Given the description of an element on the screen output the (x, y) to click on. 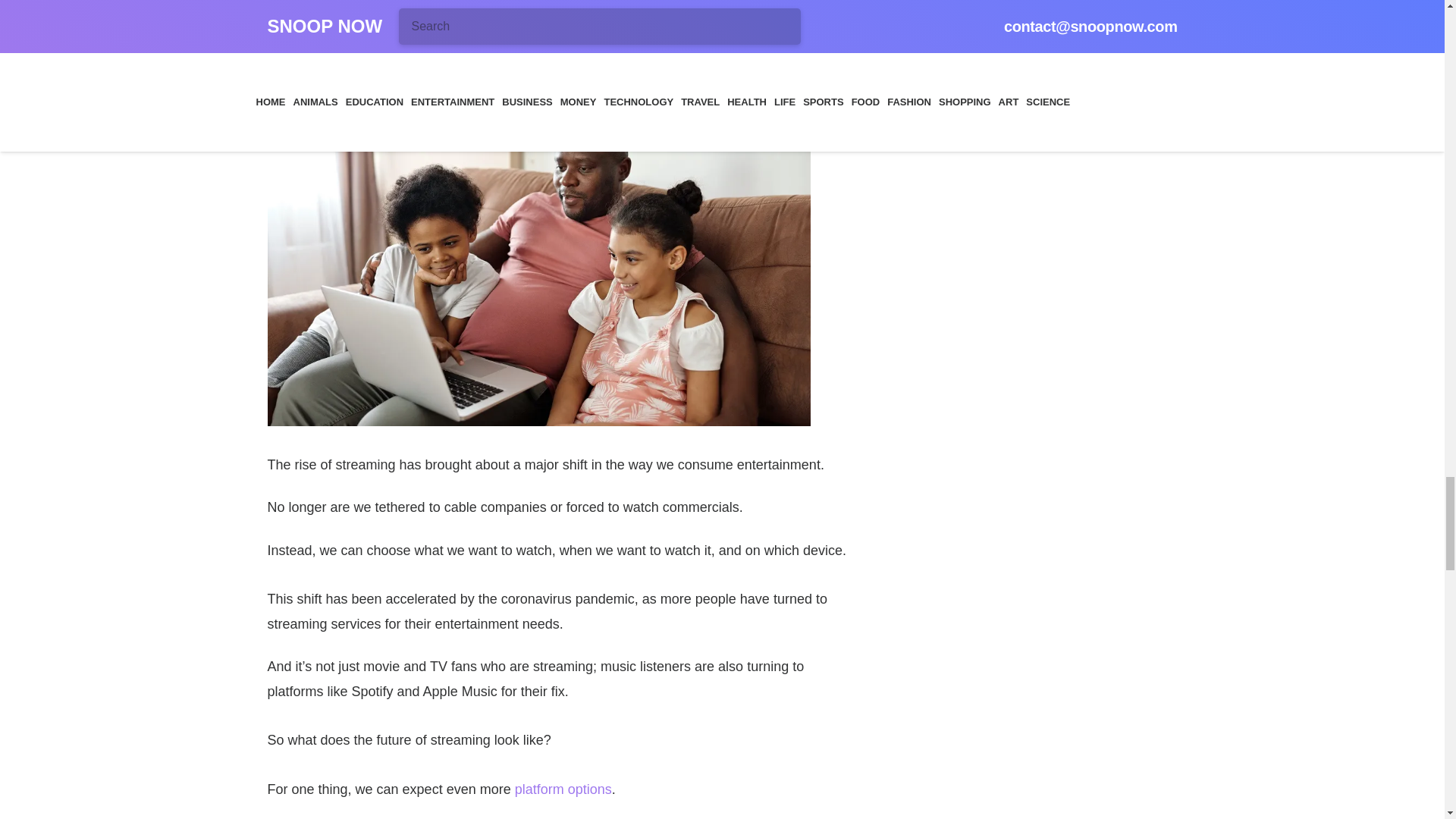
platform options (563, 789)
